Given the description of an element on the screen output the (x, y) to click on. 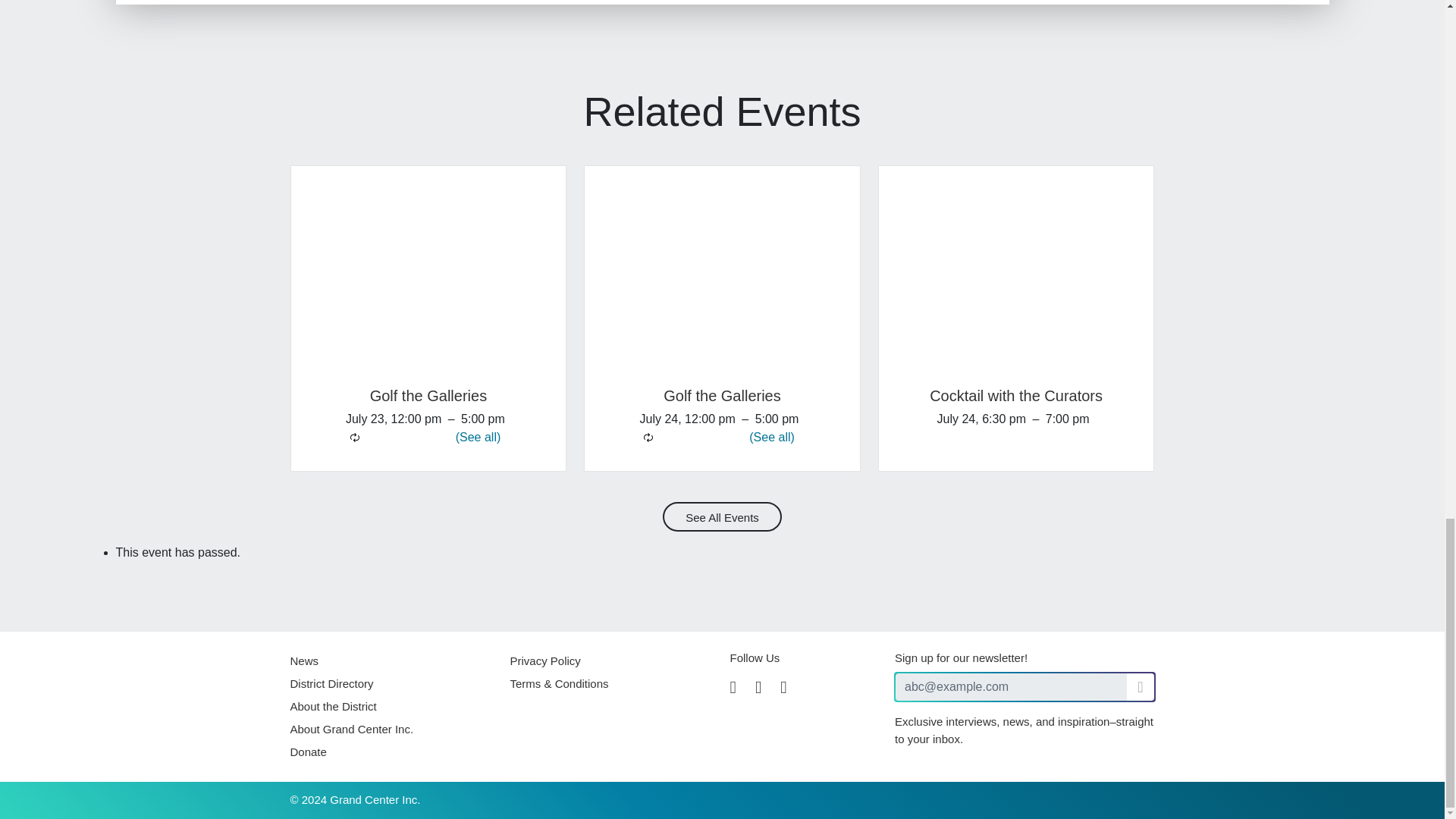
Golf the Galleries (721, 395)
Golf the Galleries (428, 395)
See All Events (721, 516)
News (303, 660)
Cocktail with the Curators (1016, 395)
District Directory (330, 683)
